Given the description of an element on the screen output the (x, y) to click on. 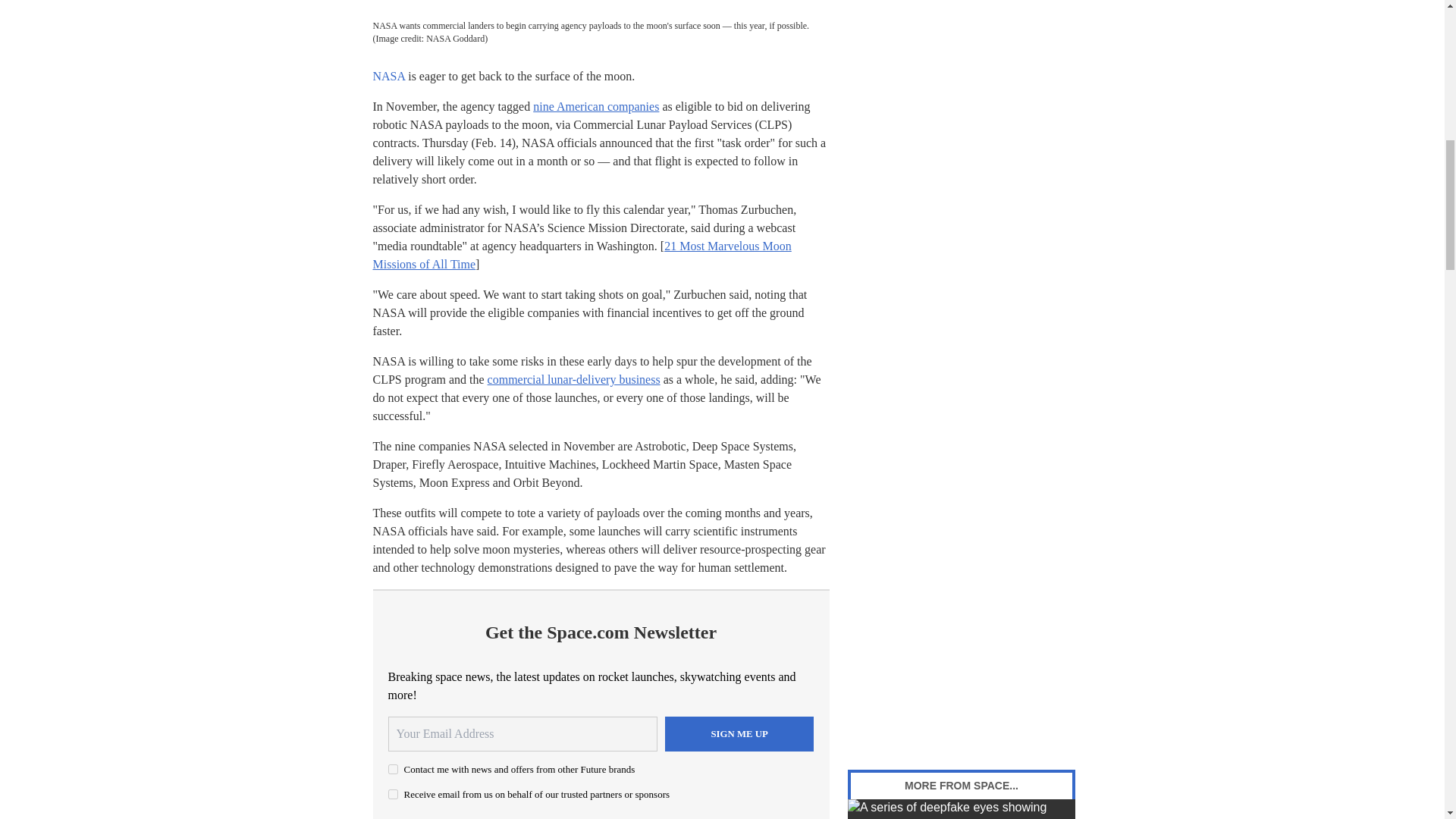
on (392, 768)
on (392, 794)
Sign me up (739, 733)
The key to detecting deepfakes may lie within deep space (961, 809)
